Given the description of an element on the screen output the (x, y) to click on. 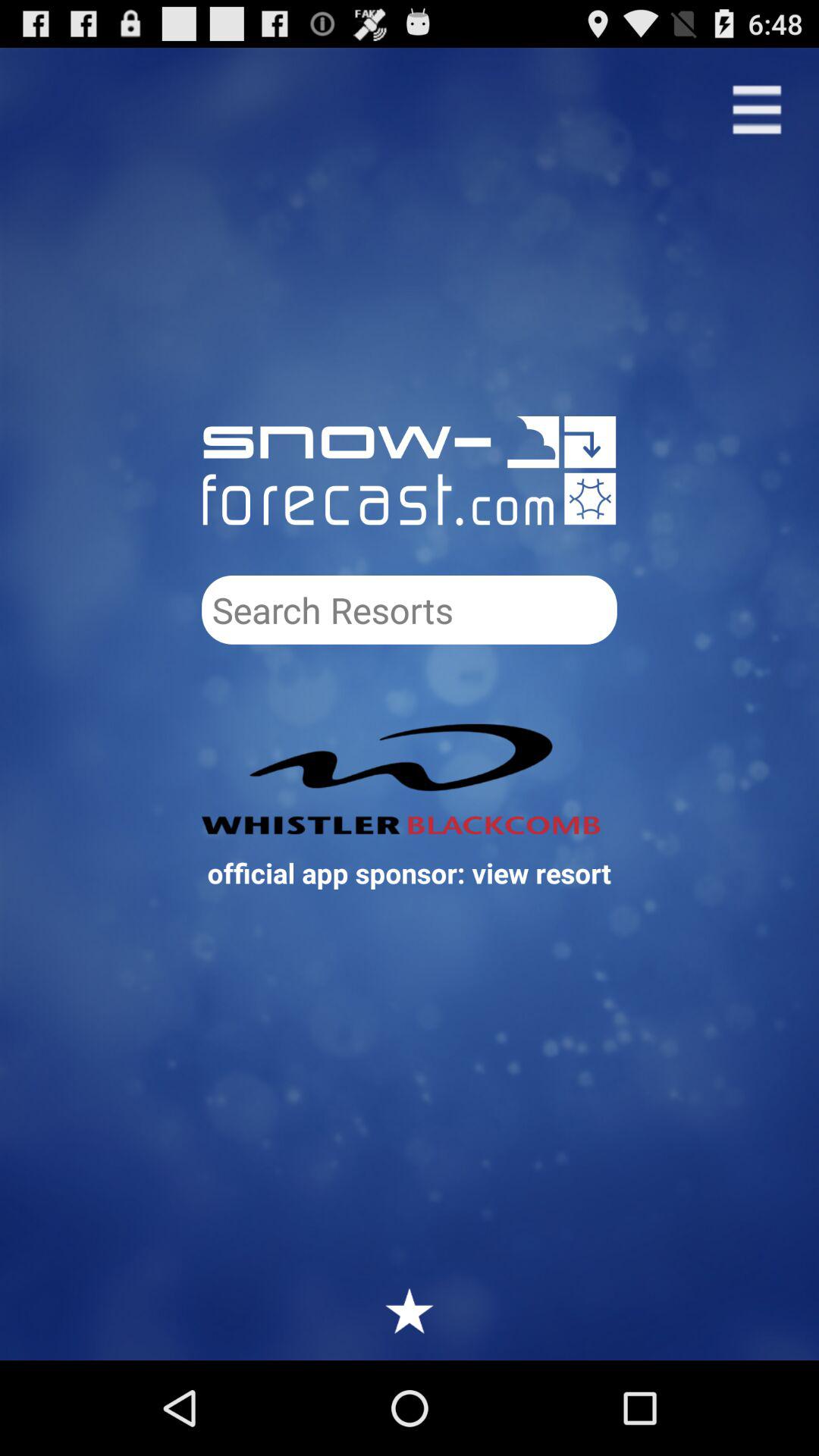
rate application (409, 1310)
